Given the description of an element on the screen output the (x, y) to click on. 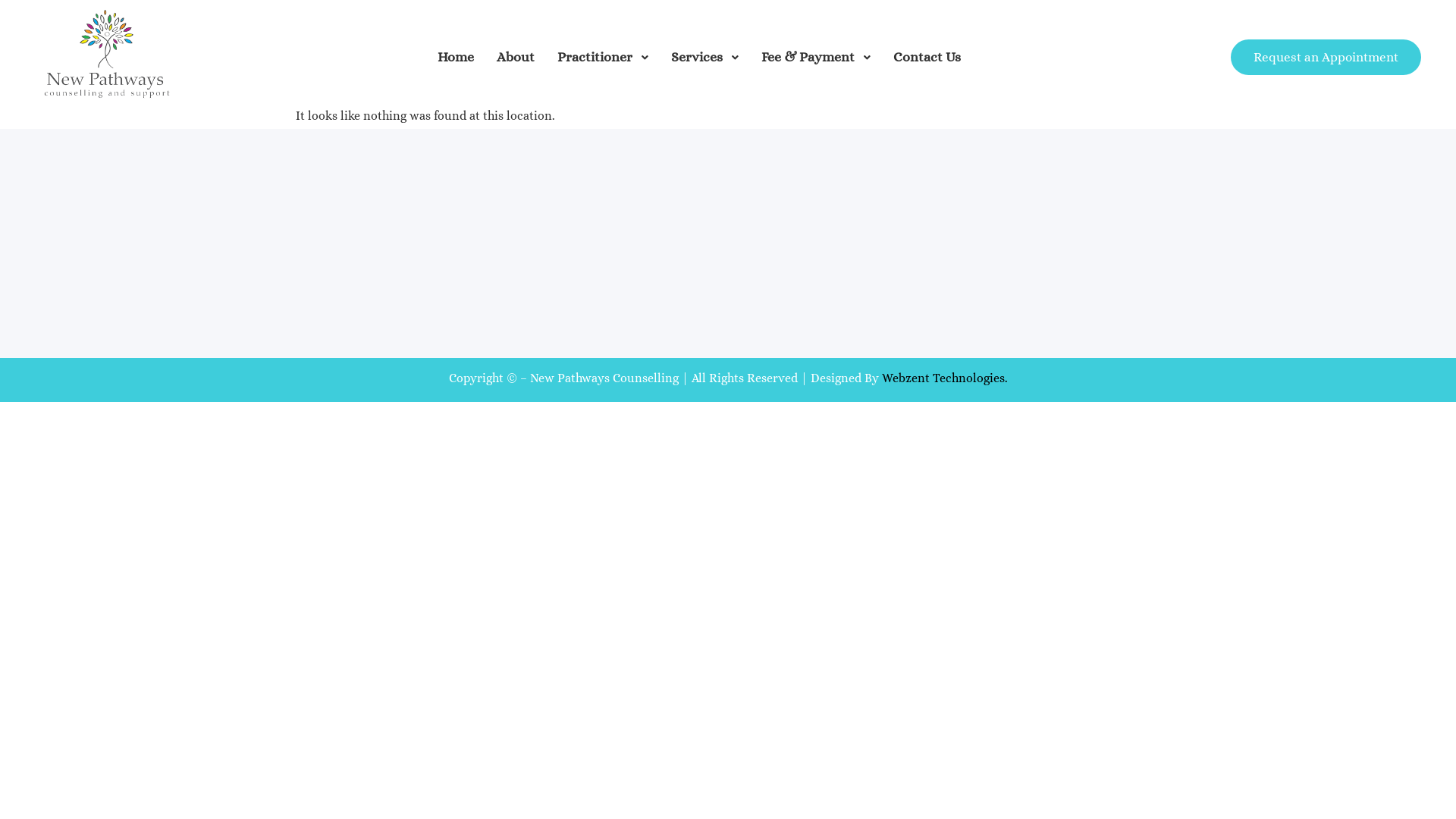
Request an Appointment Element type: text (1325, 57)
Services Element type: text (690, 57)
Practitioner Element type: text (589, 57)
Fee & Payment Element type: text (801, 57)
Home Element type: text (449, 57)
Webzent Technologies. Element type: text (944, 377)
Contact Us Element type: text (920, 57)
About Element type: text (509, 57)
